Given the description of an element on the screen output the (x, y) to click on. 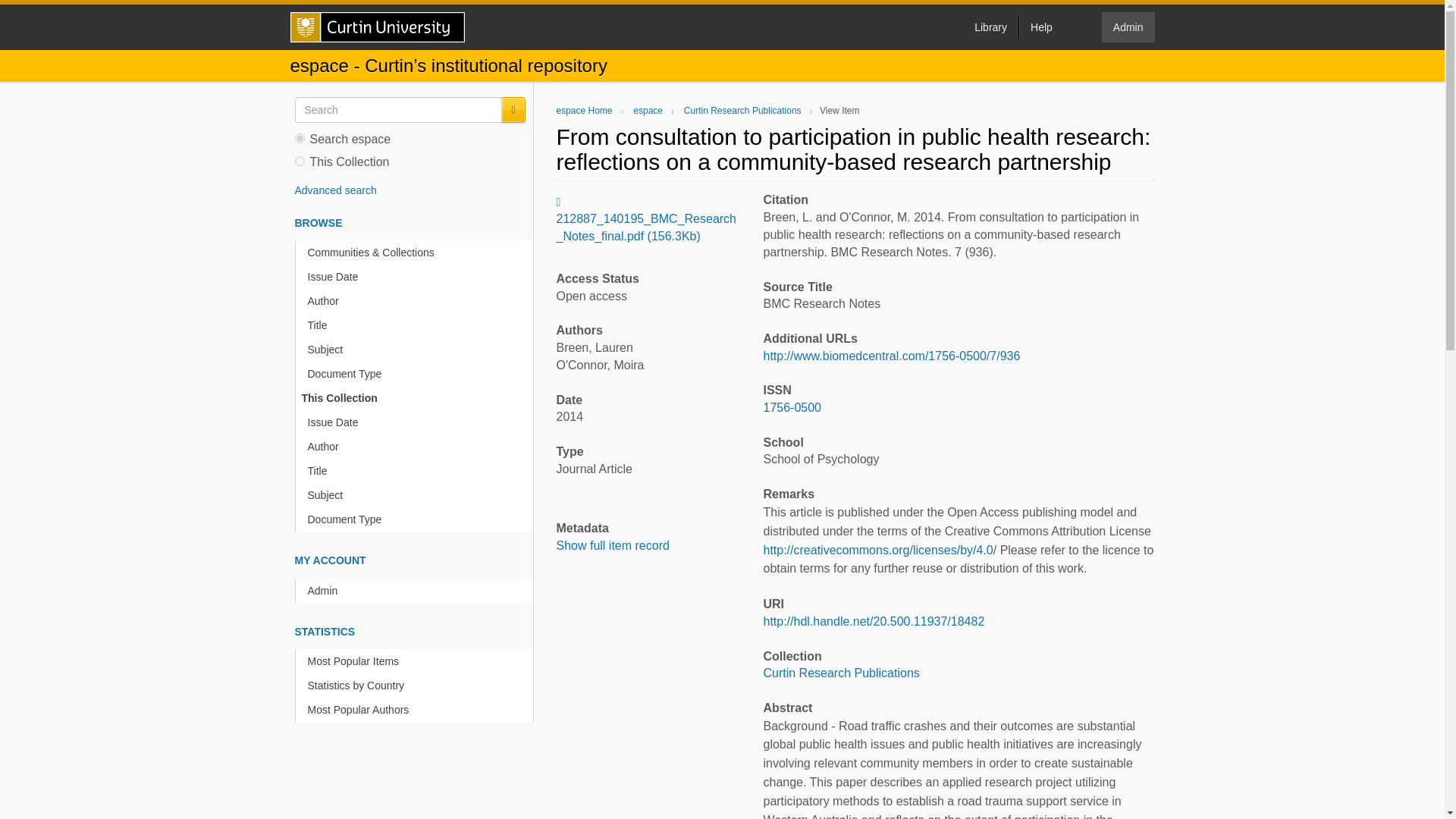
1756-0500 (791, 407)
Curtin Research Publications (743, 110)
Title (416, 325)
Go (512, 109)
Issue Date (416, 276)
This Collection (413, 398)
Subject (416, 349)
Document Type (416, 373)
Curtin University Homepage (376, 27)
Subject (416, 495)
